Given the description of an element on the screen output the (x, y) to click on. 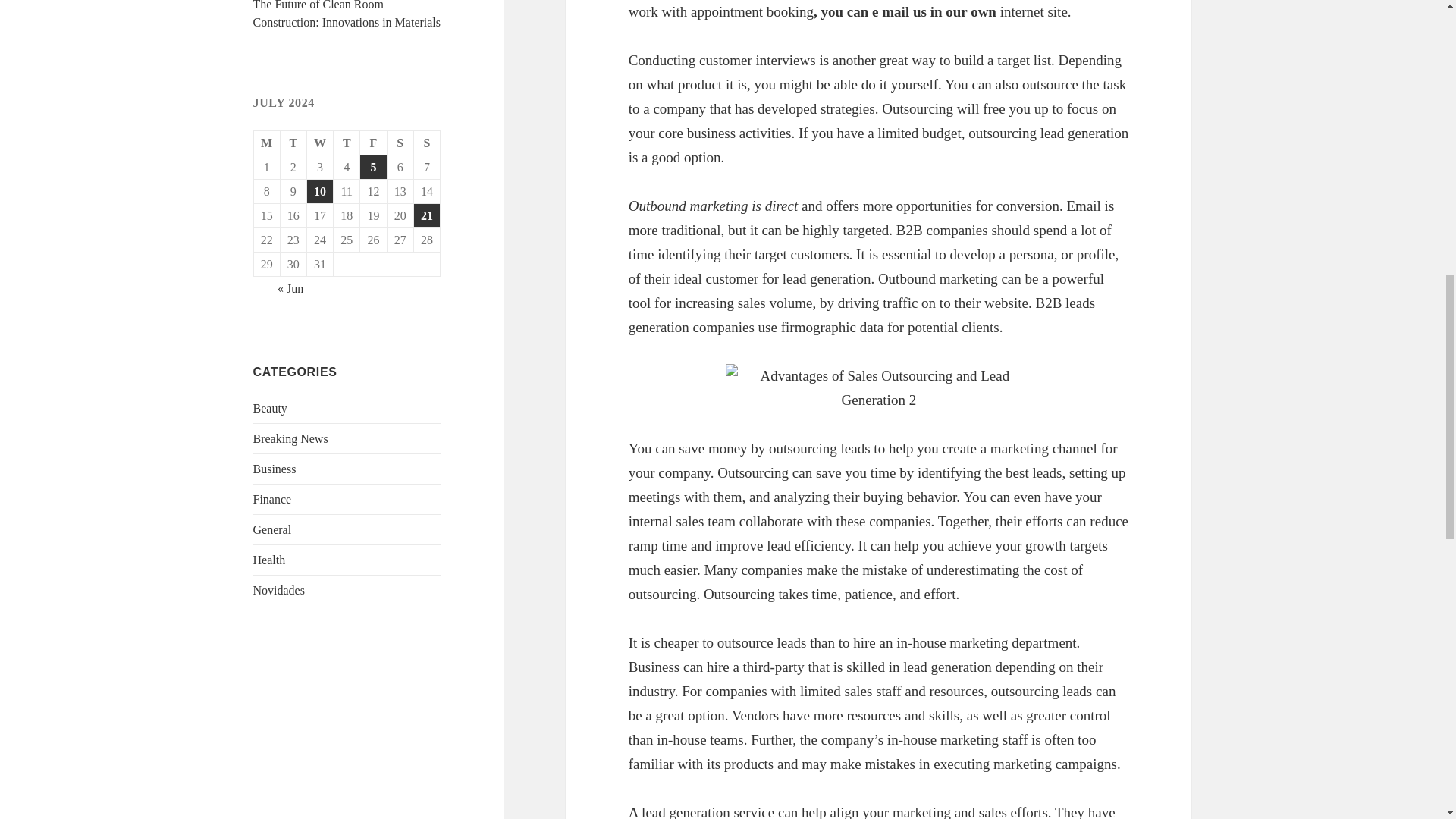
Health (269, 559)
General (272, 529)
Tuesday (294, 143)
Beauty (269, 408)
Sunday (427, 143)
Monday (267, 143)
Wednesday (320, 143)
Finance (272, 499)
Saturday (400, 143)
appointment booking (751, 12)
5 (372, 167)
21 (426, 215)
Breaking News (291, 438)
Thursday (346, 143)
